Given the description of an element on the screen output the (x, y) to click on. 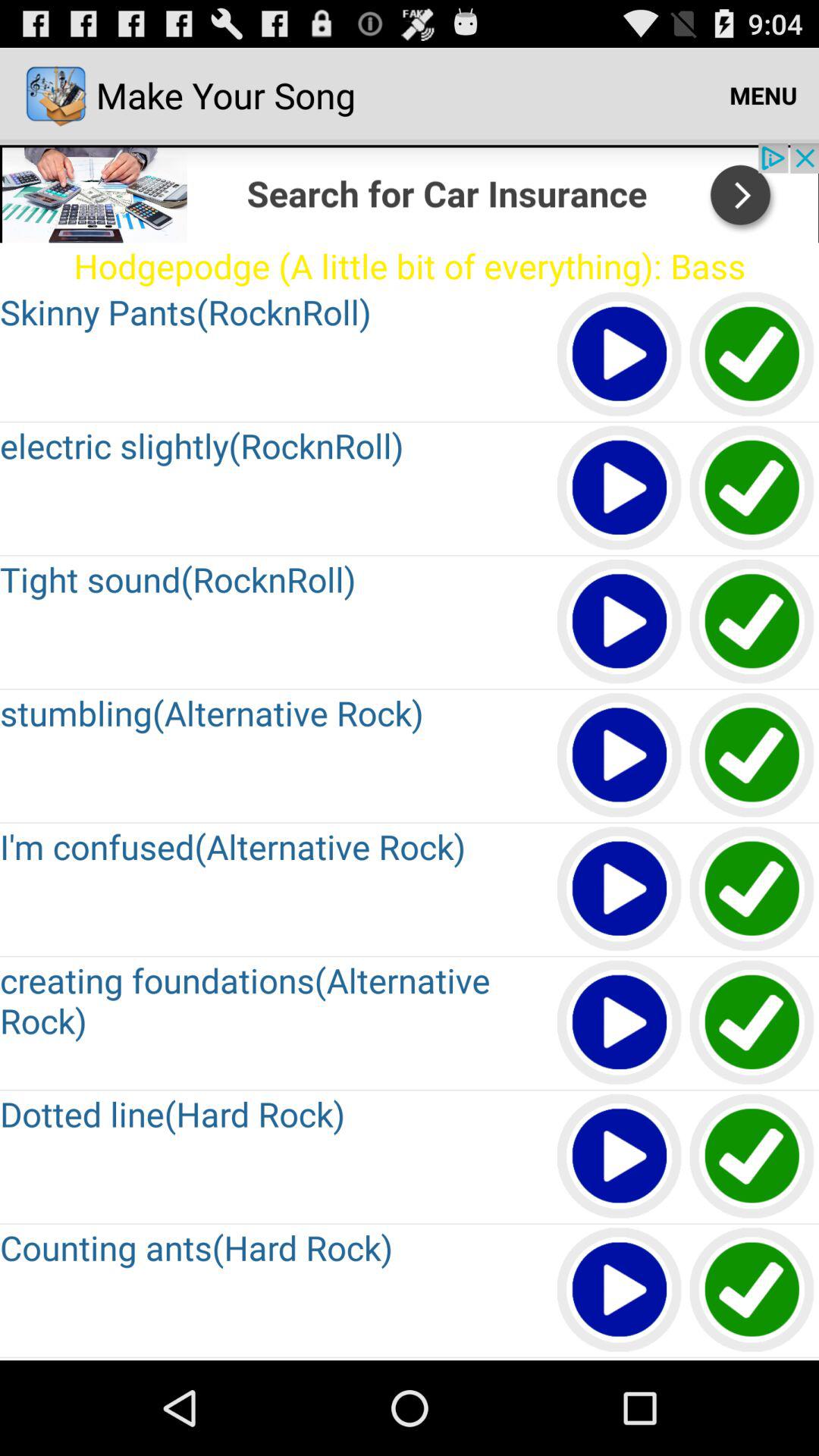
click play option (619, 1156)
